Given the description of an element on the screen output the (x, y) to click on. 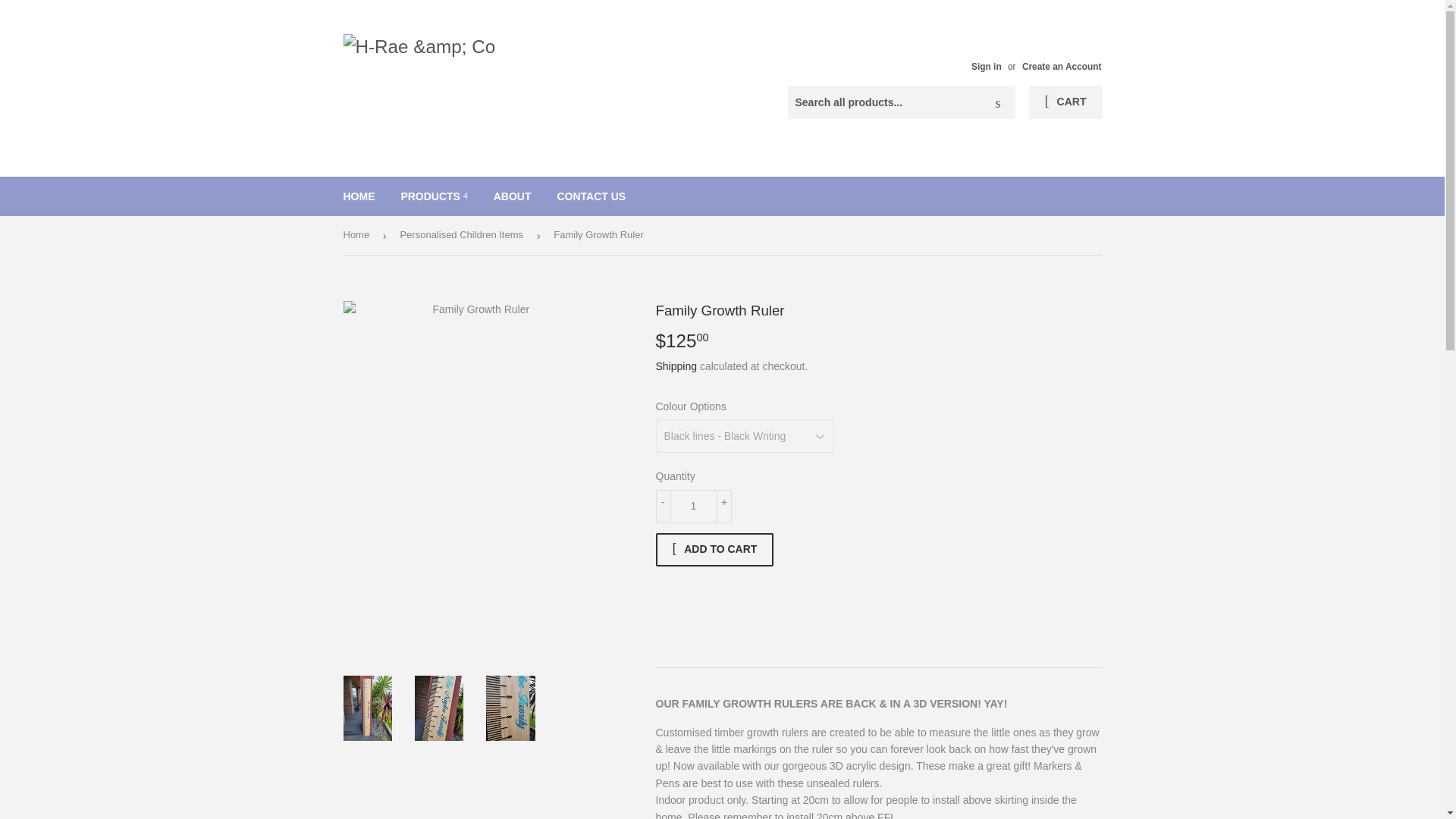
Search (997, 102)
HOME (359, 196)
1 (692, 506)
PRODUCTS (433, 196)
CART (1064, 101)
Sign in (986, 66)
Create an Account (1062, 66)
